Given the description of an element on the screen output the (x, y) to click on. 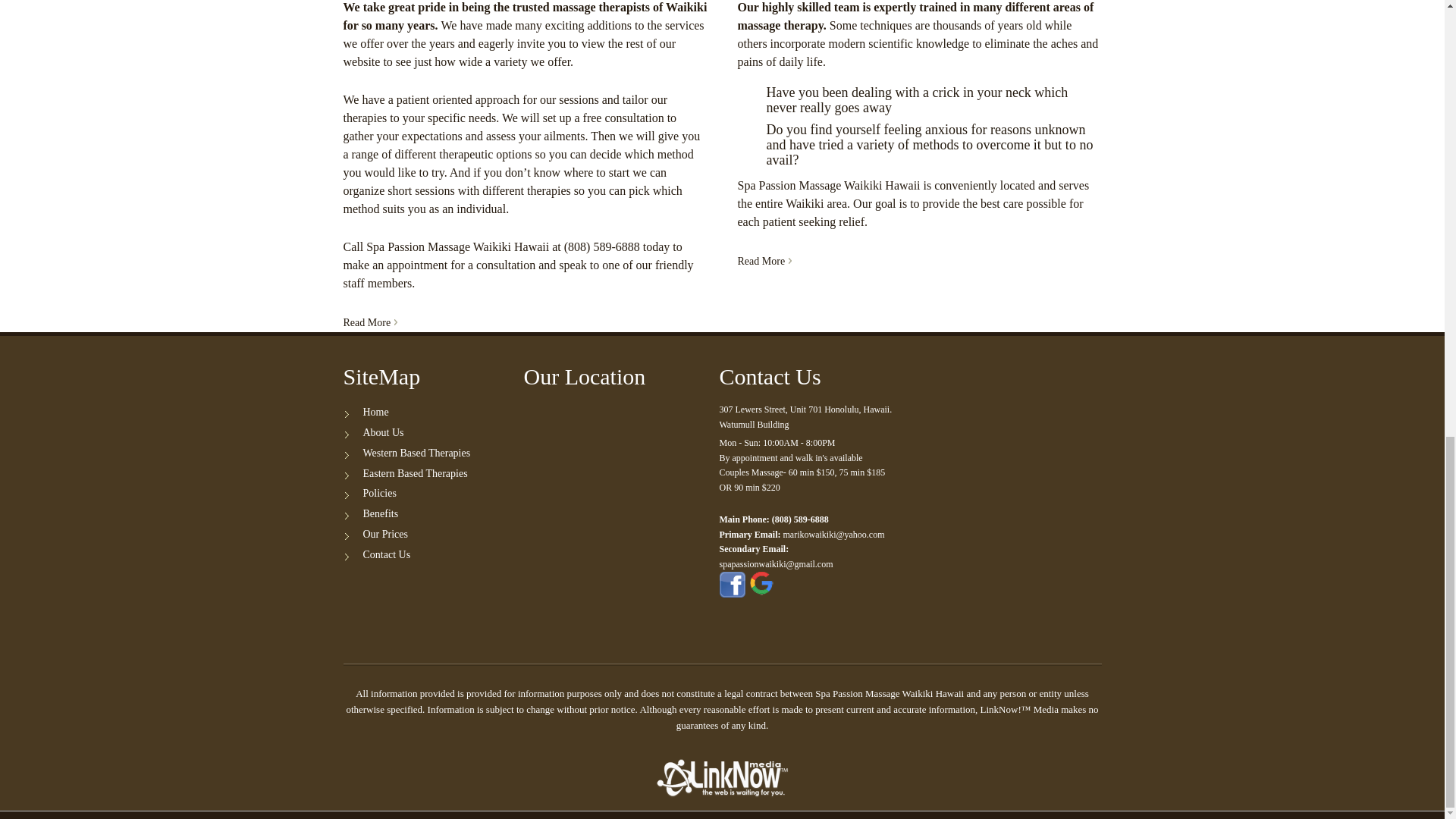
Eastern Based Therapies (414, 473)
Waikiki Sports Therapy (764, 260)
Read More (764, 260)
Read More (370, 322)
Home (375, 411)
Benefits (379, 513)
Contact Us (386, 554)
Policies (379, 492)
Western Based Therapies (416, 452)
About Spa Passion Massage Waikiki Hawaii (370, 322)
Our Prices (384, 533)
About Us (382, 432)
